Given the description of an element on the screen output the (x, y) to click on. 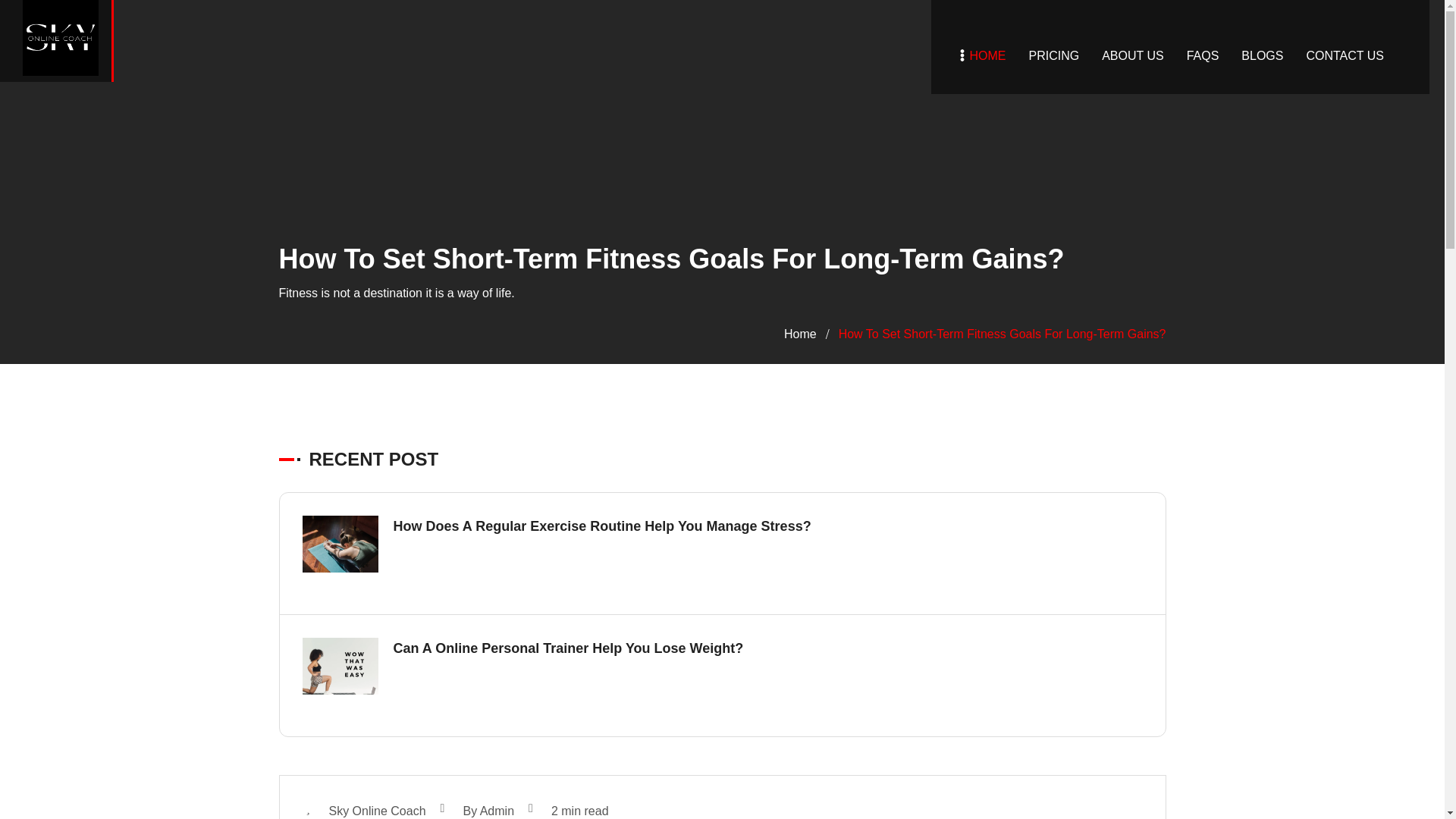
FAQS (1203, 56)
HOME (987, 56)
ABOUT US (1132, 56)
Home (800, 333)
BLOGS (1261, 56)
How Does A Regular Exercise Routine Help You Manage Stress? (601, 525)
Can A Online Personal Trainer Help You Lose Weight? (567, 648)
CONTACT US (1345, 56)
PRICING (1052, 56)
